Given the description of an element on the screen output the (x, y) to click on. 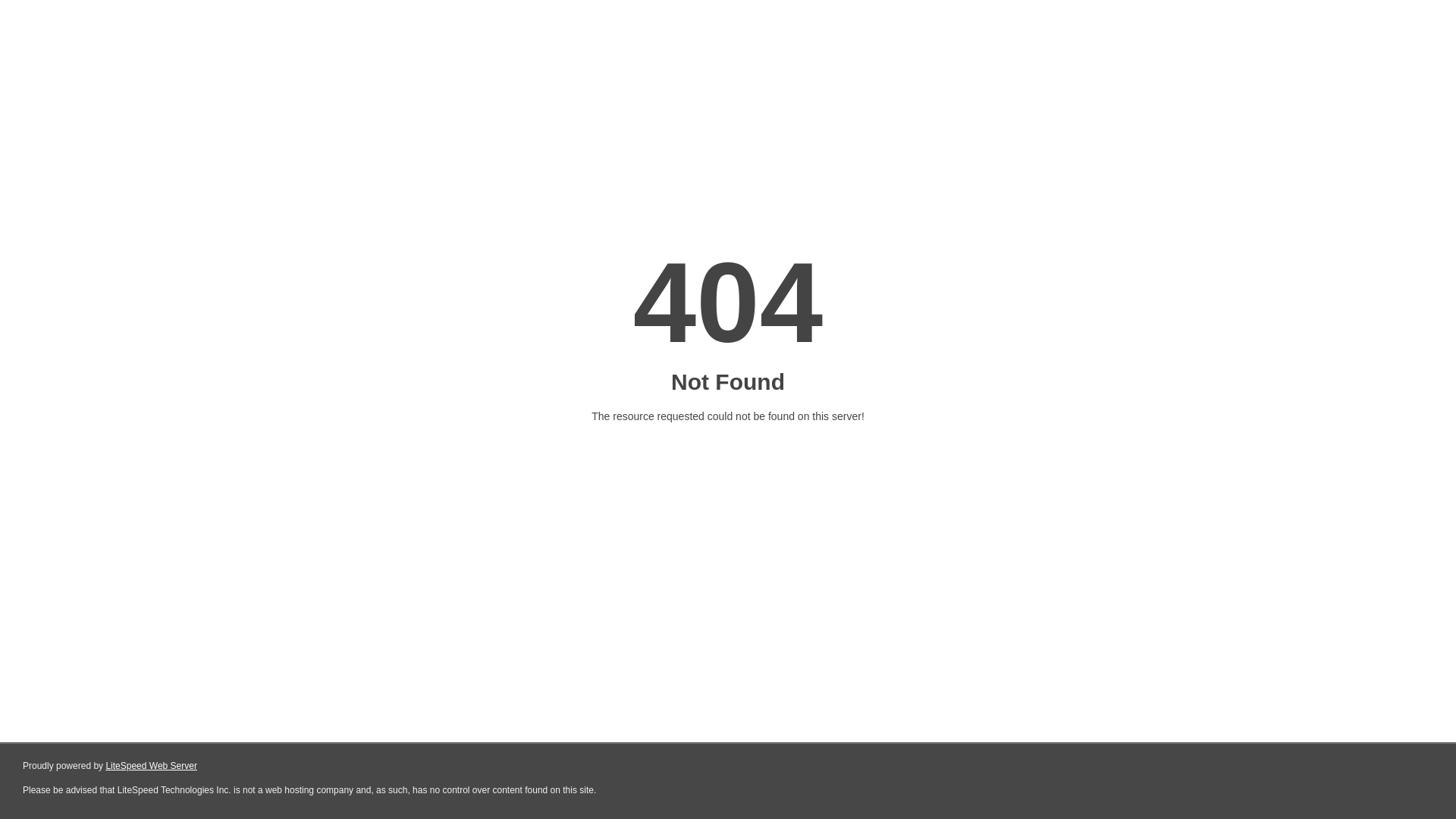
LiteSpeed Web Server Element type: text (151, 765)
